Given the description of an element on the screen output the (x, y) to click on. 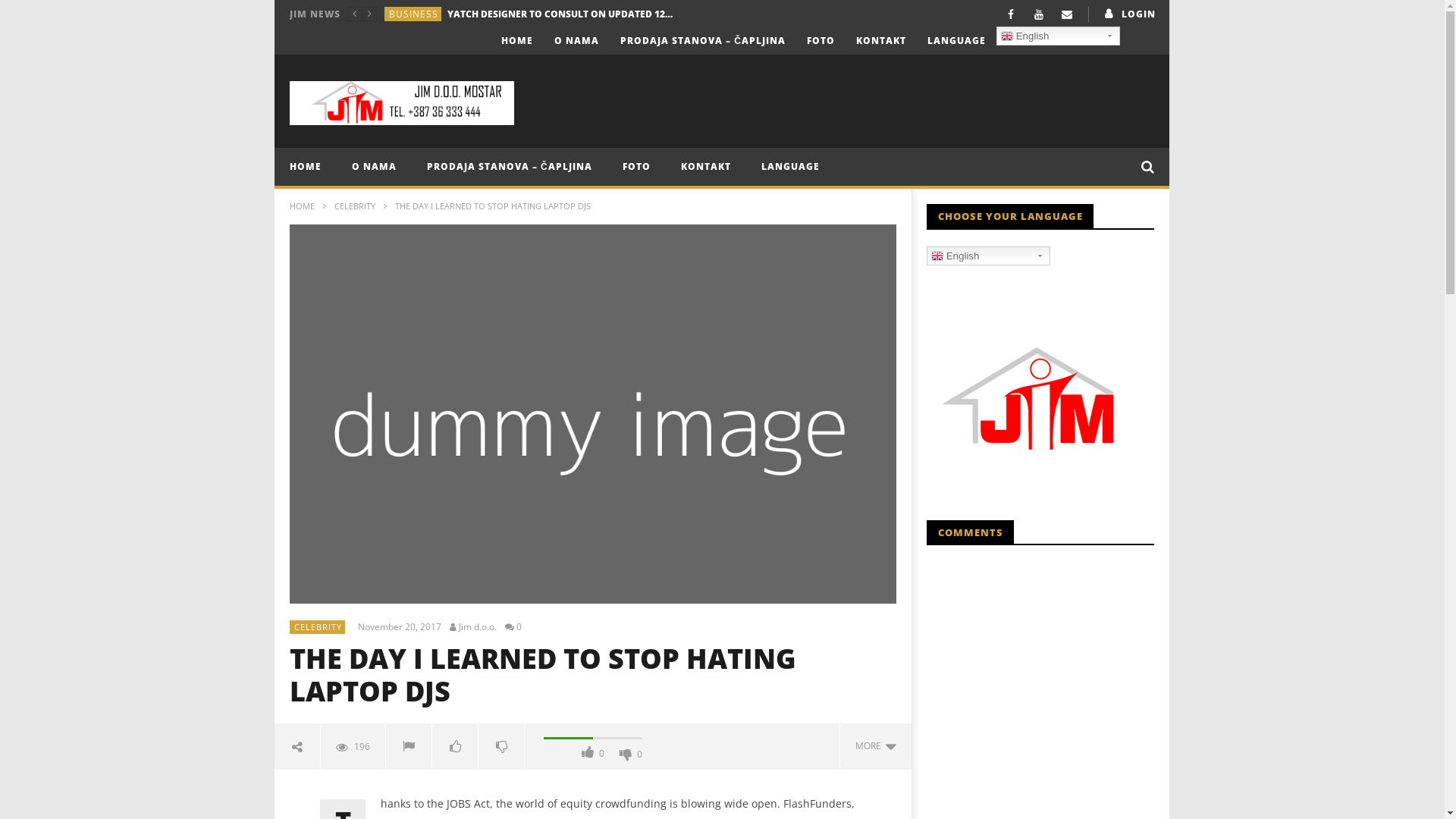
Jim d.o.o. Element type: text (475, 626)
BUSINESS Element type: text (413, 20)
CELEBRITY Element type: text (318, 625)
HOME Element type: text (305, 166)
FOTO Element type: text (636, 166)
KONTAKT Element type: text (705, 166)
MORE  Element type: text (875, 745)
HOME Element type: text (301, 205)
search Element type: text (1129, 199)
LOGIN Element type: text (1128, 14)
KONTAKT Element type: text (880, 40)
0 Element type: text (516, 626)
O NAMA Element type: text (373, 166)
LANGUAGE Element type: text (956, 40)
YouTube Element type: hover (1038, 14)
English Element type: text (988, 254)
CELEBRITY Element type: text (354, 205)
JIM d.o.o. Mostar Element type: hover (401, 103)
O NAMA Element type: text (576, 40)
HOME Element type: text (516, 40)
PEBBLE TIME STEEL IS ON TRACK TO SHIP IN JULY Element type: text (559, 19)
FOTO Element type: text (820, 40)
Facebook Element type: hover (1010, 14)
November 20, 2017 Element type: text (401, 626)
English Element type: text (1058, 35)
LANGUAGE Element type: text (790, 166)
Email Element type: hover (1066, 14)
